Given the description of an element on the screen output the (x, y) to click on. 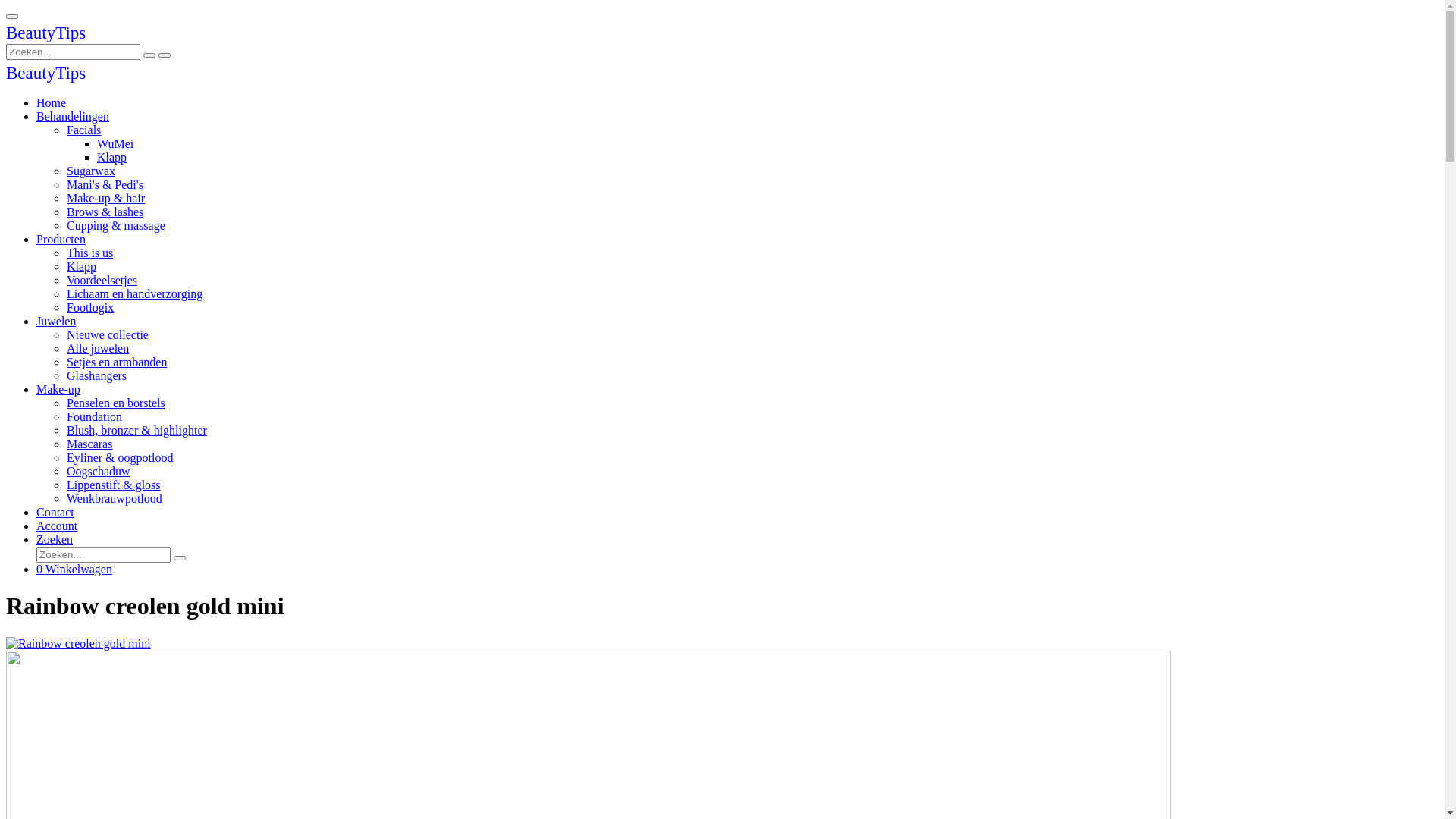
Penselen en borstels Element type: text (115, 402)
Klapp Element type: text (111, 156)
Mascaras Element type: text (89, 443)
WuMei Element type: text (115, 143)
Home Element type: text (50, 102)
Facials Element type: text (83, 129)
0 Winkelwagen Element type: text (74, 568)
Zoeken Element type: text (54, 539)
Account Element type: text (56, 525)
Behandelingen Element type: text (72, 115)
Sugarwax Element type: text (90, 170)
Contact Element type: text (55, 511)
BeautyTips Element type: text (45, 34)
Blush, bronzer & highlighter Element type: text (136, 429)
Lippenstift & gloss Element type: text (113, 484)
Make-up Element type: text (58, 388)
Brows & lashes Element type: text (104, 211)
Lichaam en handverzorging Element type: text (134, 293)
Klapp Element type: text (81, 266)
Wenkbrauwpotlood Element type: text (114, 498)
Oogschaduw Element type: text (98, 470)
Eyliner & oogpotlood Element type: text (119, 457)
Cupping & massage Element type: text (115, 225)
Setjes en armbanden Element type: text (116, 361)
Mani's & Pedi's Element type: text (104, 184)
Footlogix Element type: text (89, 307)
Voordeelsetjes Element type: text (101, 279)
Glashangers Element type: text (96, 375)
Foundation Element type: text (94, 416)
Alle juwelen Element type: text (97, 348)
Nieuwe collectie Element type: text (107, 334)
This is us Element type: text (89, 252)
Make-up & hair Element type: text (105, 197)
BeautyTips Element type: text (45, 74)
Producten Element type: text (60, 238)
Juwelen Element type: text (55, 320)
